Given the description of an element on the screen output the (x, y) to click on. 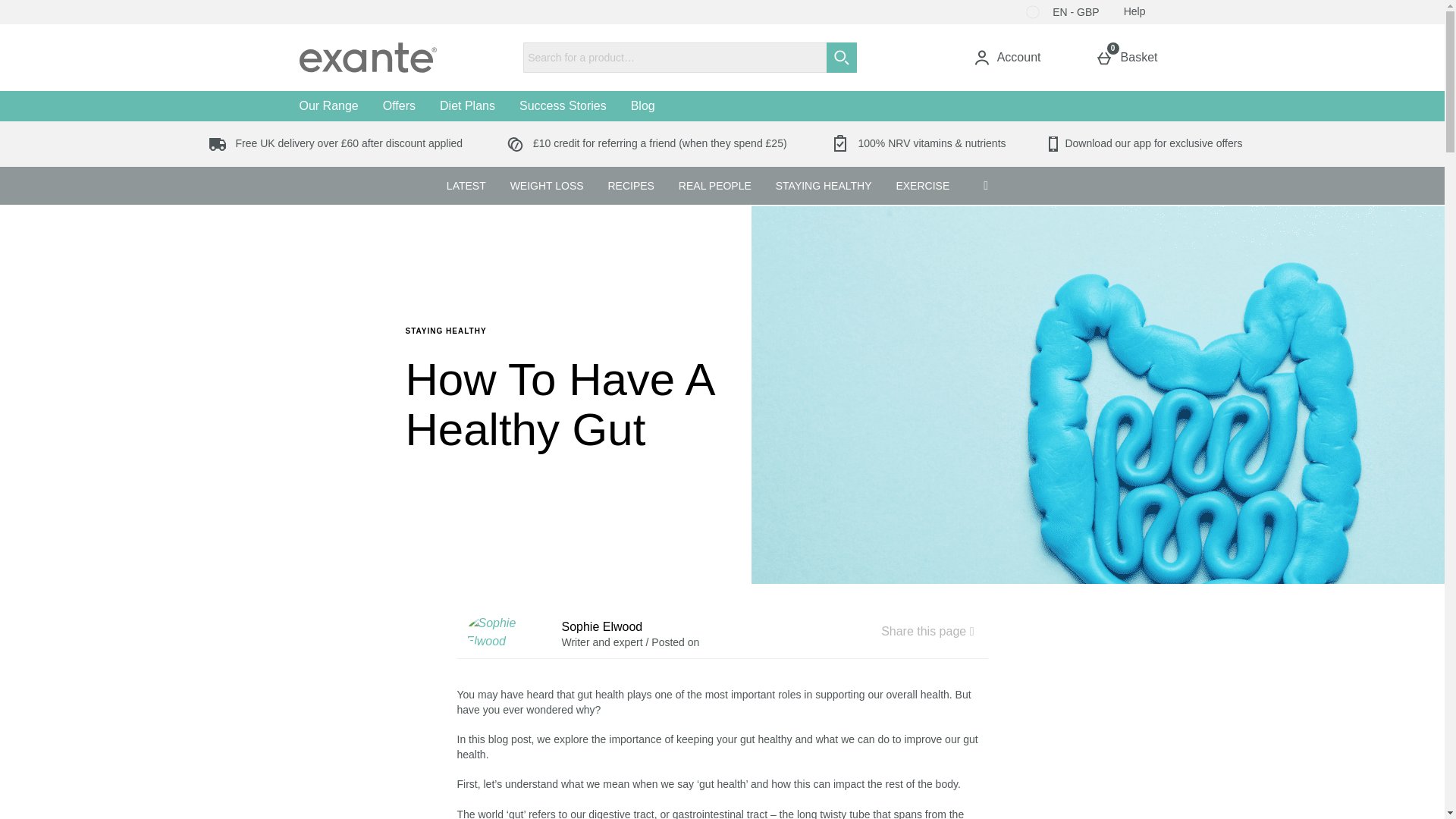
EN - GBP (1062, 12)
Account (1006, 57)
Sophie Elwood (503, 632)
Offers (1129, 57)
Start search (399, 105)
Help (842, 57)
Read more Staying Healthy articles (1134, 12)
Read more posts by Sophie Elwood (563, 329)
Read more posts by Sophie Elwood (506, 632)
